Given the description of an element on the screen output the (x, y) to click on. 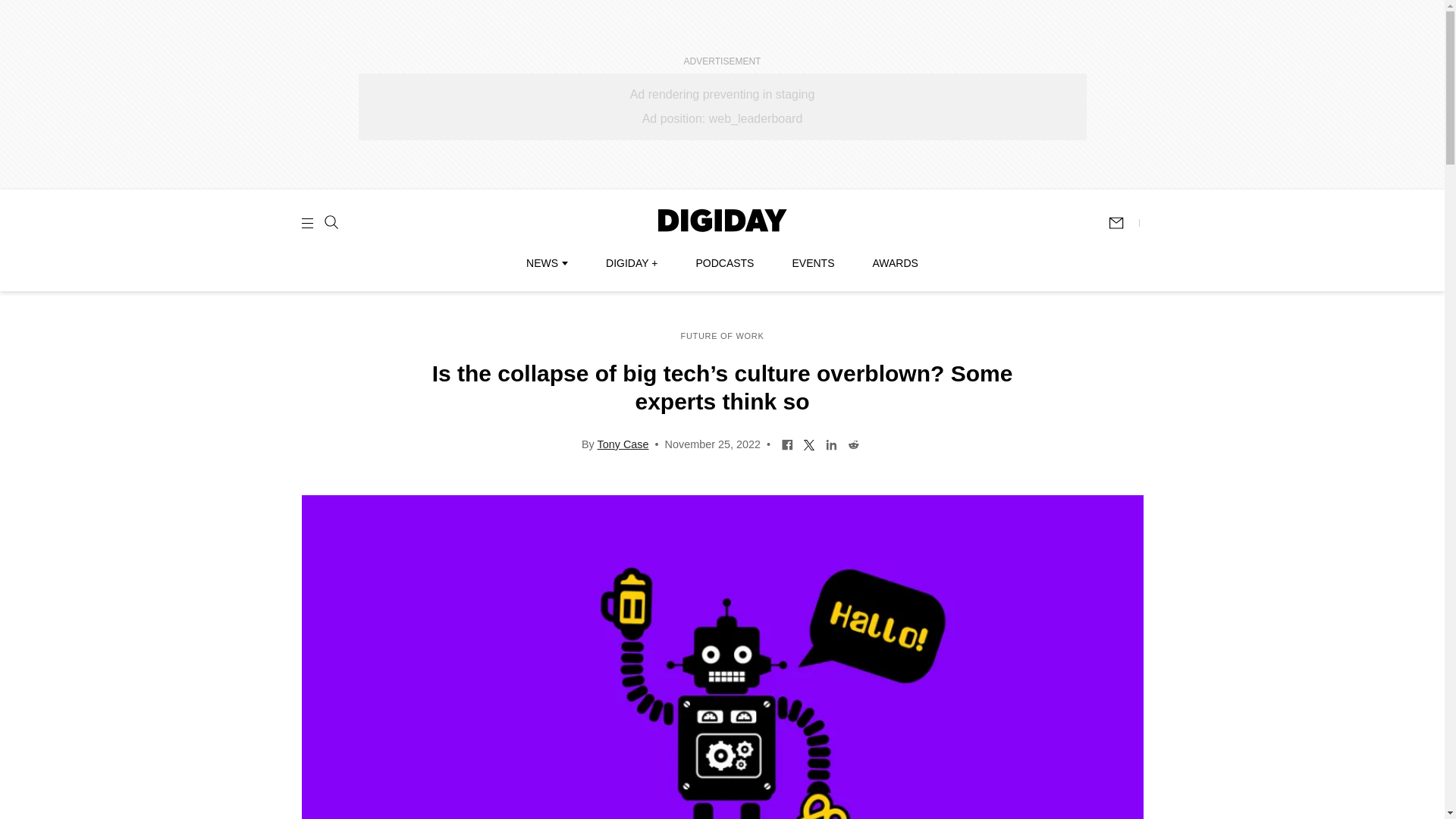
AWARDS (894, 262)
EVENTS (813, 262)
Share on LinkedIn (831, 443)
NEWS (546, 262)
Share on Twitter (809, 443)
Share on Reddit (853, 443)
PODCASTS (725, 262)
Subscribe (1123, 223)
Share on Facebook (786, 443)
